Given the description of an element on the screen output the (x, y) to click on. 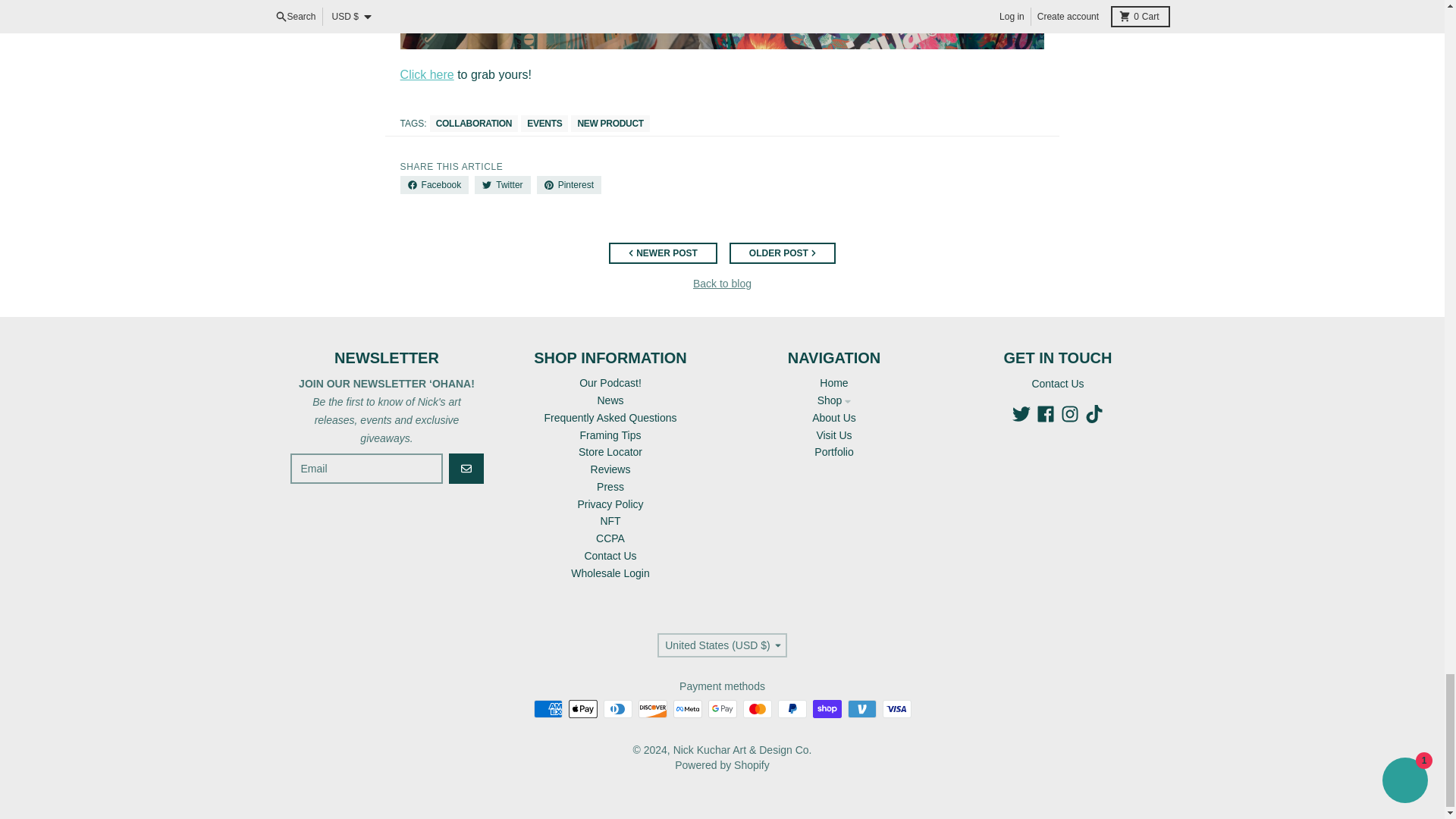
Go to Nick Kuchar Surfer Towel Collection (427, 74)
